Given the description of an element on the screen output the (x, y) to click on. 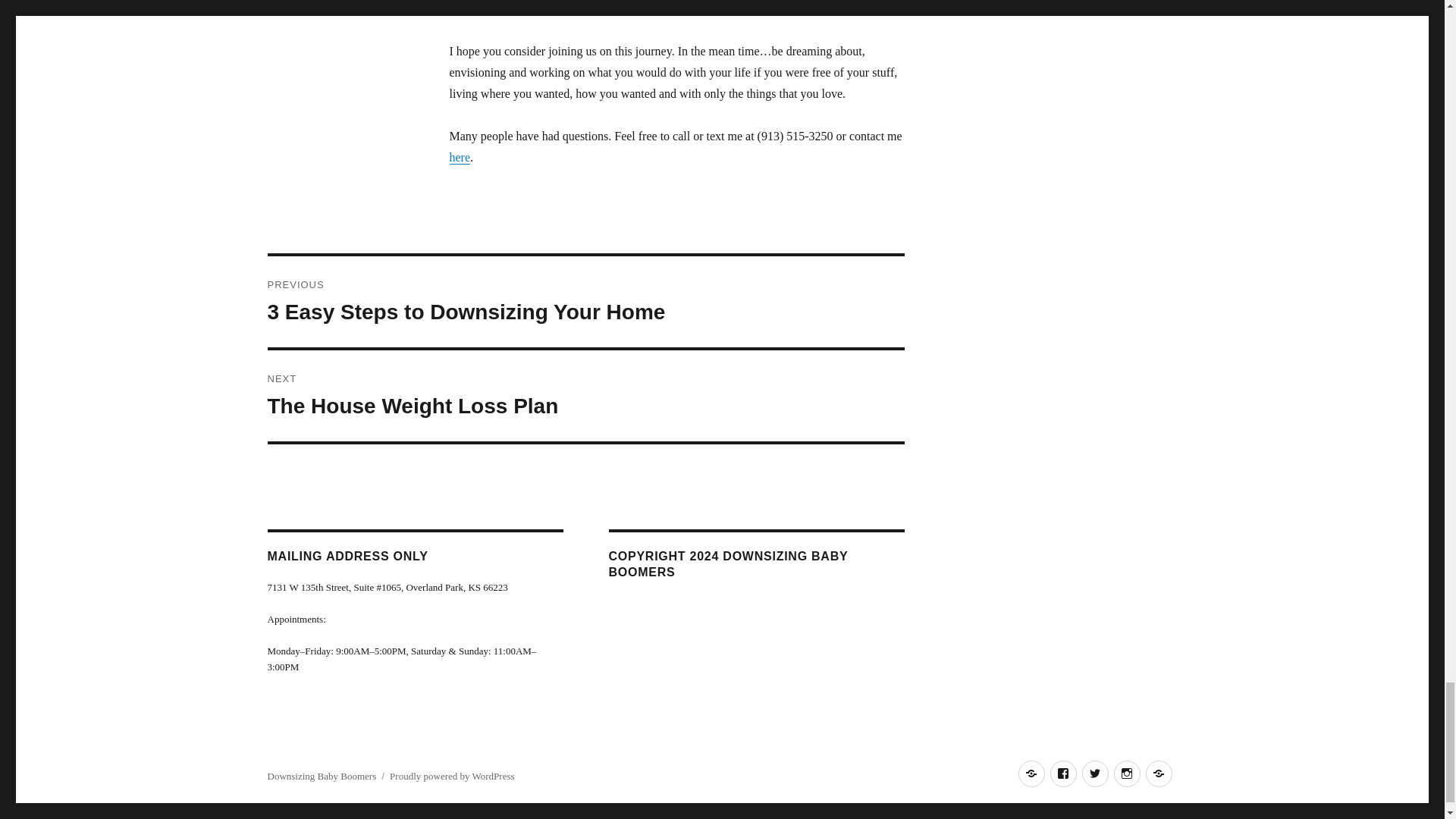
here (459, 156)
